Given the description of an element on the screen output the (x, y) to click on. 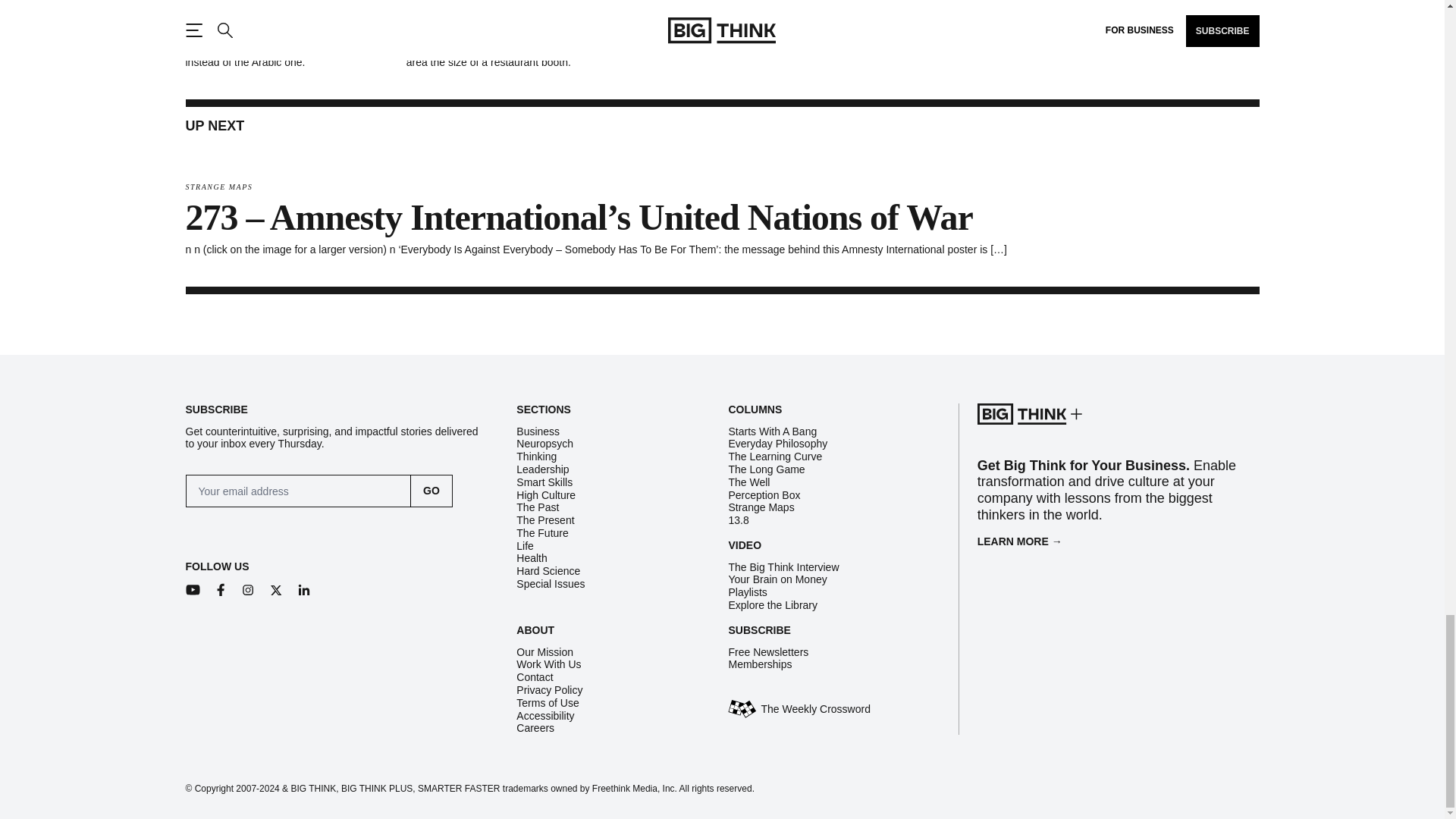
Go (431, 490)
